Given the description of an element on the screen output the (x, y) to click on. 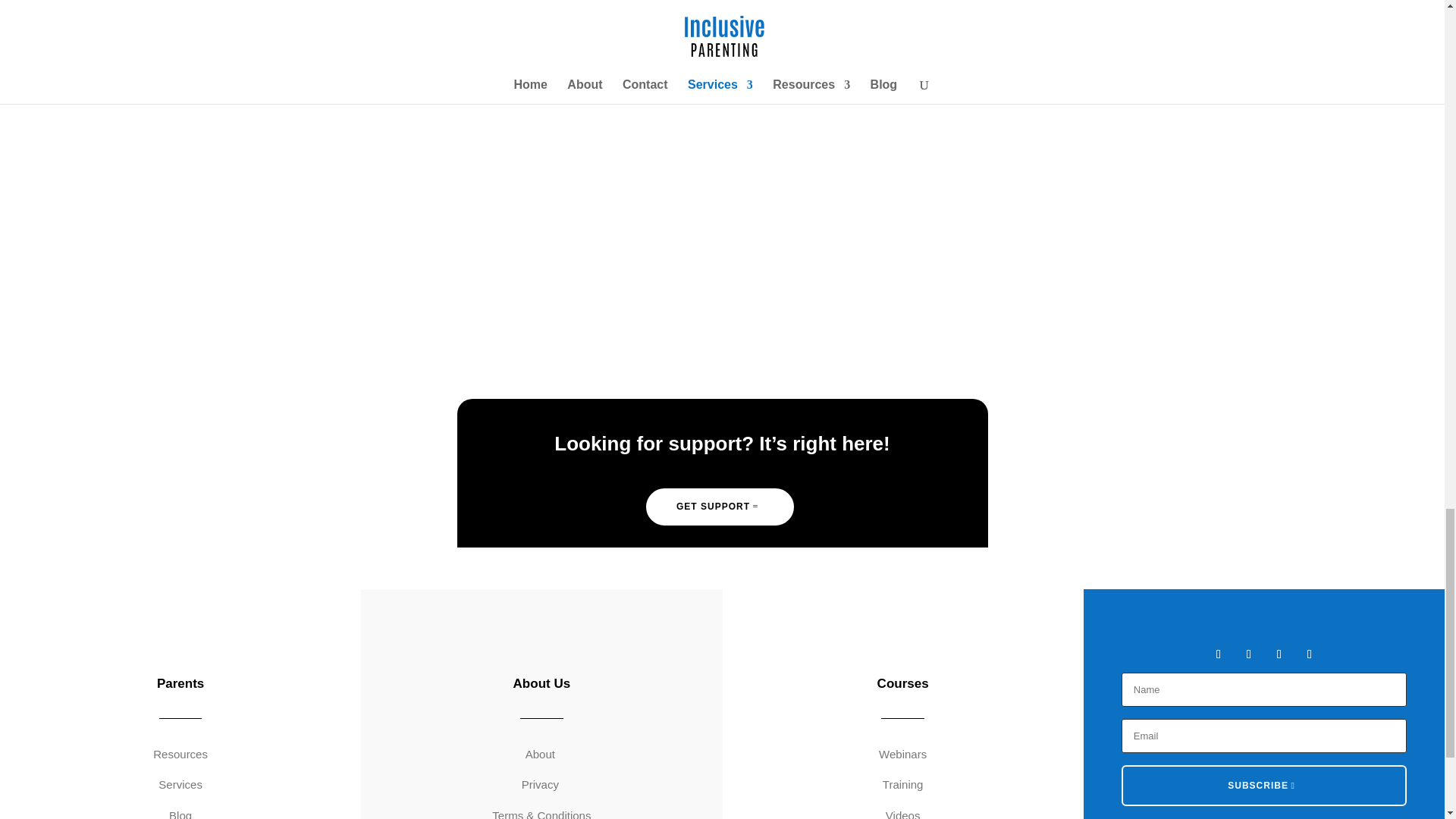
Follow on Pinterest (1309, 654)
GET SUPPORT (719, 506)
Follow on Twitter (1248, 654)
Advertisement (937, 157)
Advertisement (505, 157)
Follow on Instagram (1278, 654)
SUBSCRIBE (1263, 784)
Follow on Facebook (1218, 654)
